Given the description of an element on the screen output the (x, y) to click on. 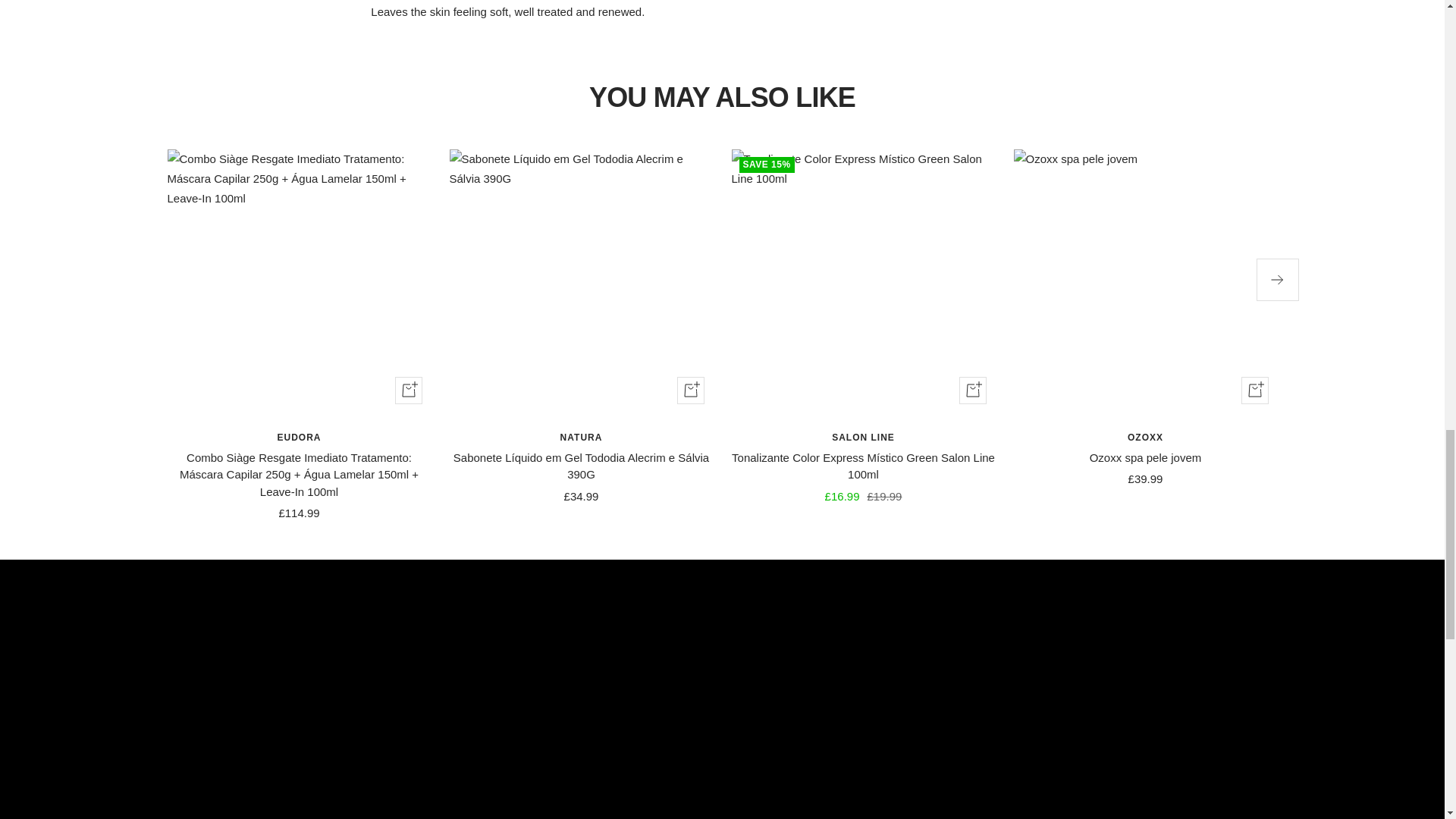
pressione TAB para descobrir mais sobre (722, 11)
